Given the description of an element on the screen output the (x, y) to click on. 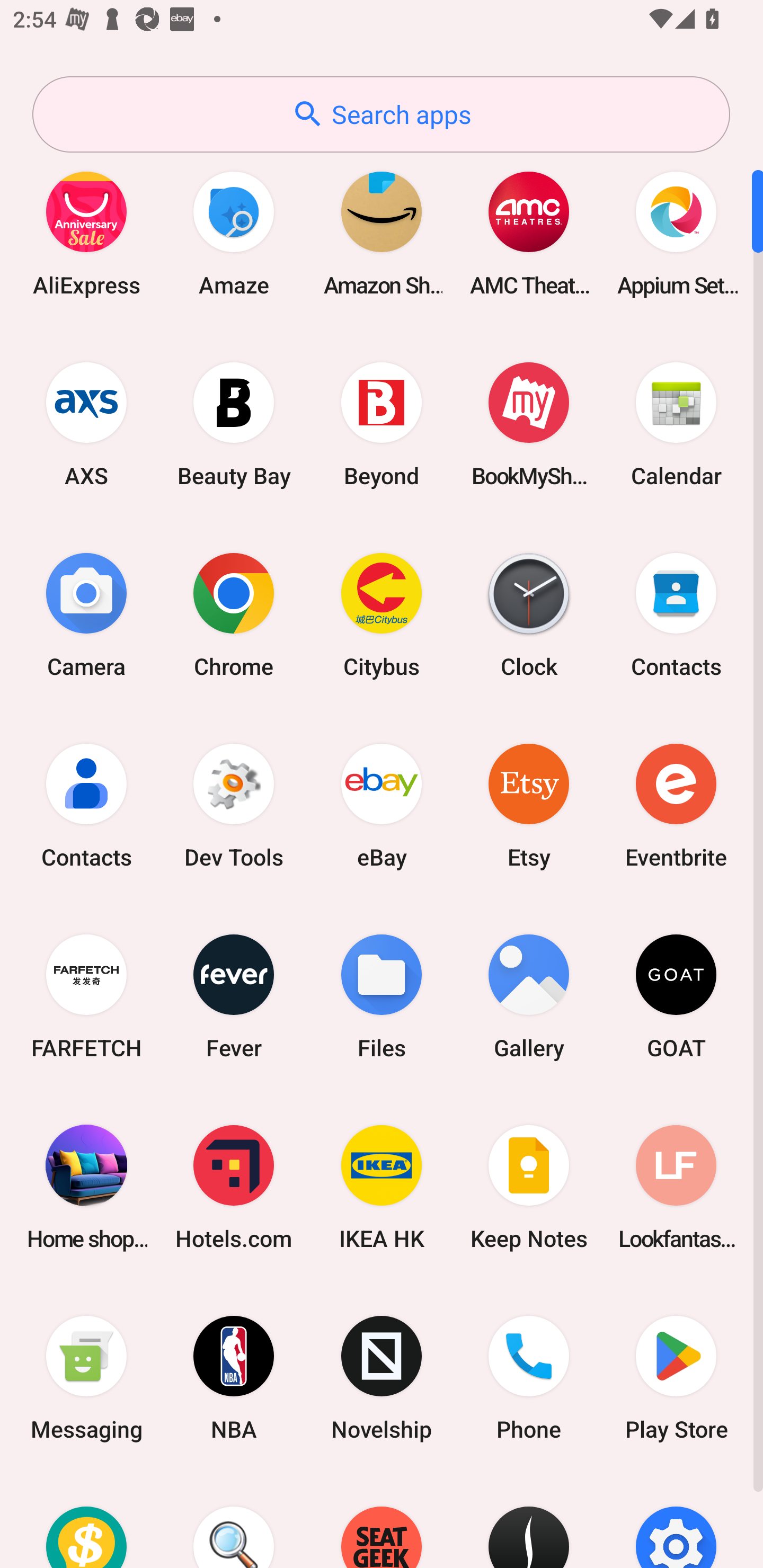
  Search apps (381, 114)
AliExpress (86, 233)
Amaze (233, 233)
Amazon Shopping (381, 233)
AMC Theatres (528, 233)
Appium Settings (676, 233)
AXS (86, 424)
Beauty Bay (233, 424)
Beyond (381, 424)
BookMyShow (528, 424)
Calendar (676, 424)
Camera (86, 614)
Chrome (233, 614)
Citybus (381, 614)
Clock (528, 614)
Contacts (676, 614)
Contacts (86, 805)
Dev Tools (233, 805)
eBay (381, 805)
Etsy (528, 805)
Eventbrite (676, 805)
FARFETCH (86, 996)
Fever (233, 996)
Files (381, 996)
Gallery (528, 996)
GOAT (676, 996)
Home shopping (86, 1186)
Hotels.com (233, 1186)
IKEA HK (381, 1186)
Keep Notes (528, 1186)
Lookfantastic (676, 1186)
Messaging (86, 1377)
NBA (233, 1377)
Novelship (381, 1377)
Phone (528, 1377)
Play Store (676, 1377)
